Given the description of an element on the screen output the (x, y) to click on. 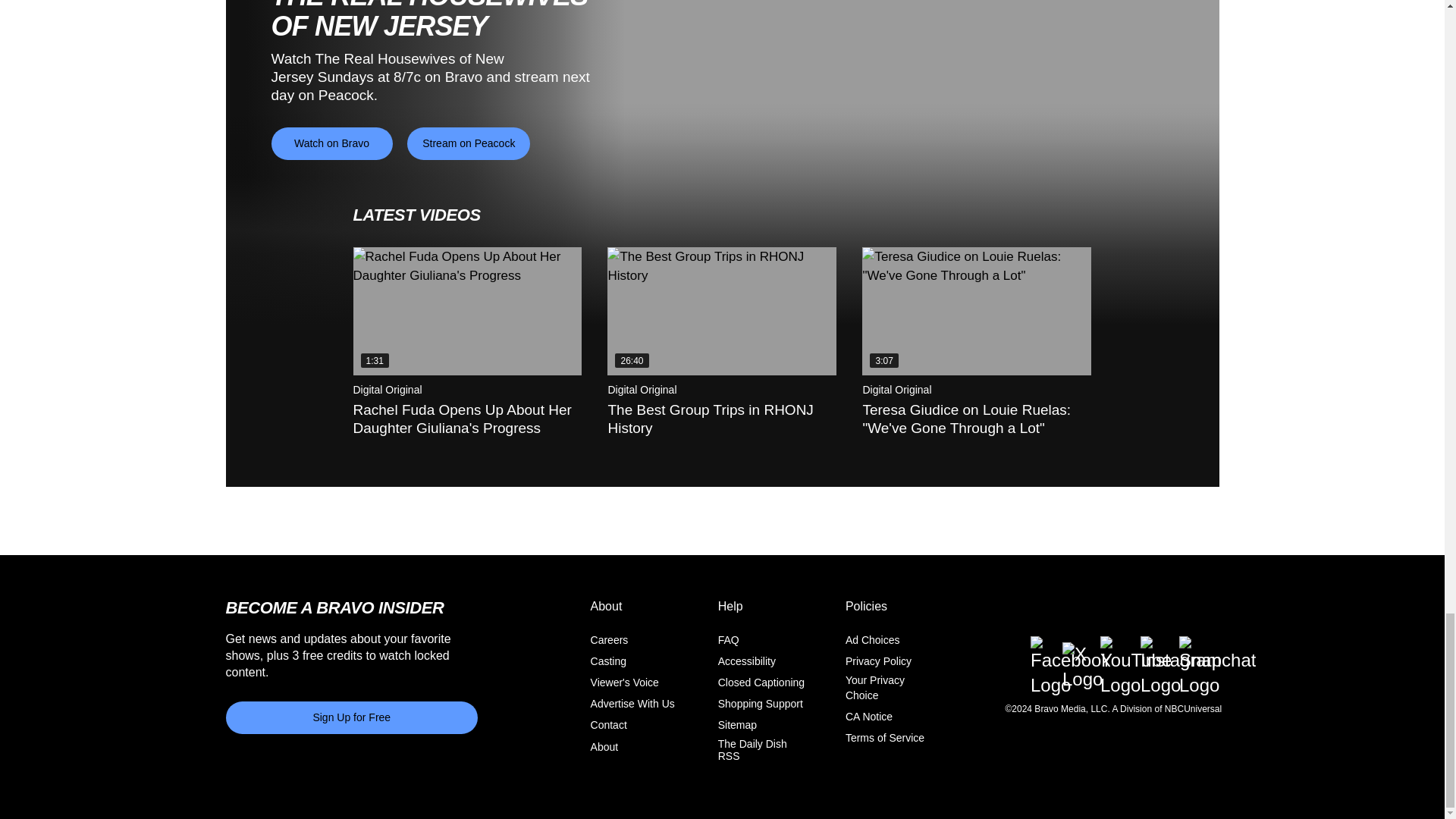
Advertise With Us (633, 704)
Teresa Giudice on Louie Ruelas: "We've Gone Through a Lot" (975, 311)
The Best Group Trips in RHONJ History (721, 311)
Rachel Fuda Opens Up About Her Daughter Giuliana's Progress (467, 311)
